Given the description of an element on the screen output the (x, y) to click on. 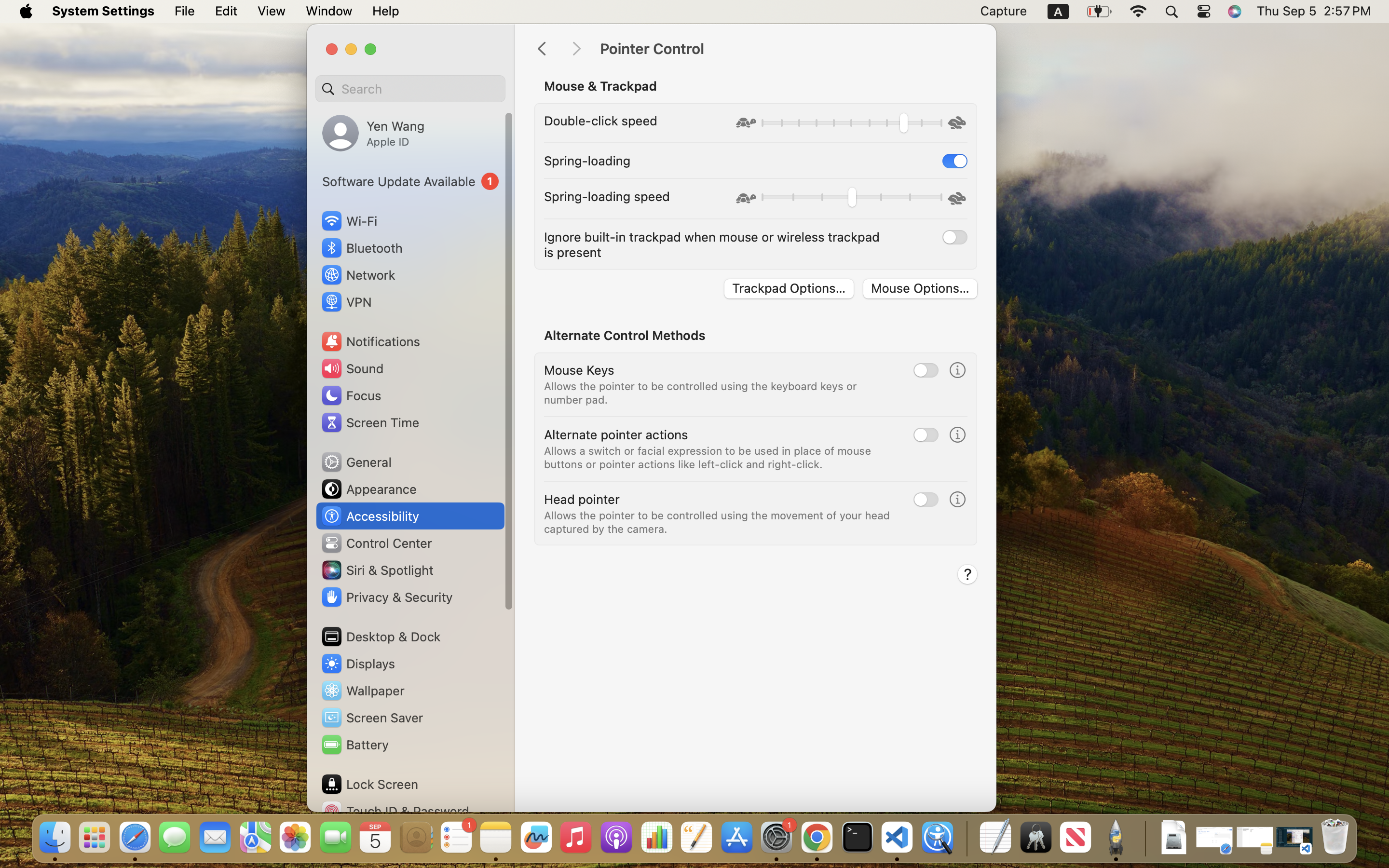
Privacy & Security Element type: AXStaticText (386, 596)
0.5 Element type: AXSlider (851, 198)
Focus Element type: AXStaticText (350, 394)
Displays Element type: AXStaticText (357, 663)
Spring-loading Element type: AXStaticText (587, 159)
